Given the description of an element on the screen output the (x, y) to click on. 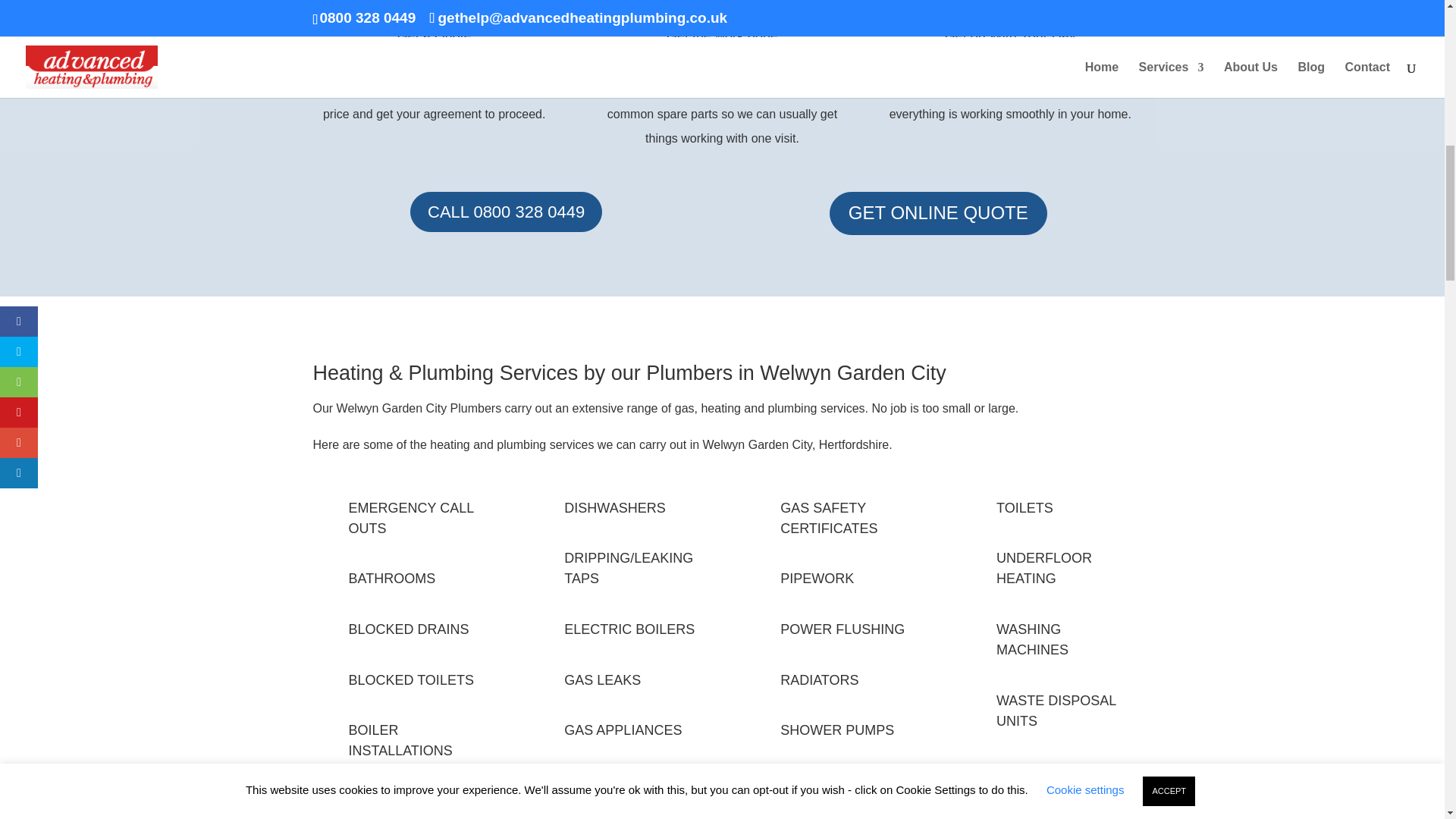
EMERGENCY CALL OUTS (411, 518)
GET ONLINE QUOTE (937, 213)
CALL 0800 328 0449 (506, 211)
